Given the description of an element on the screen output the (x, y) to click on. 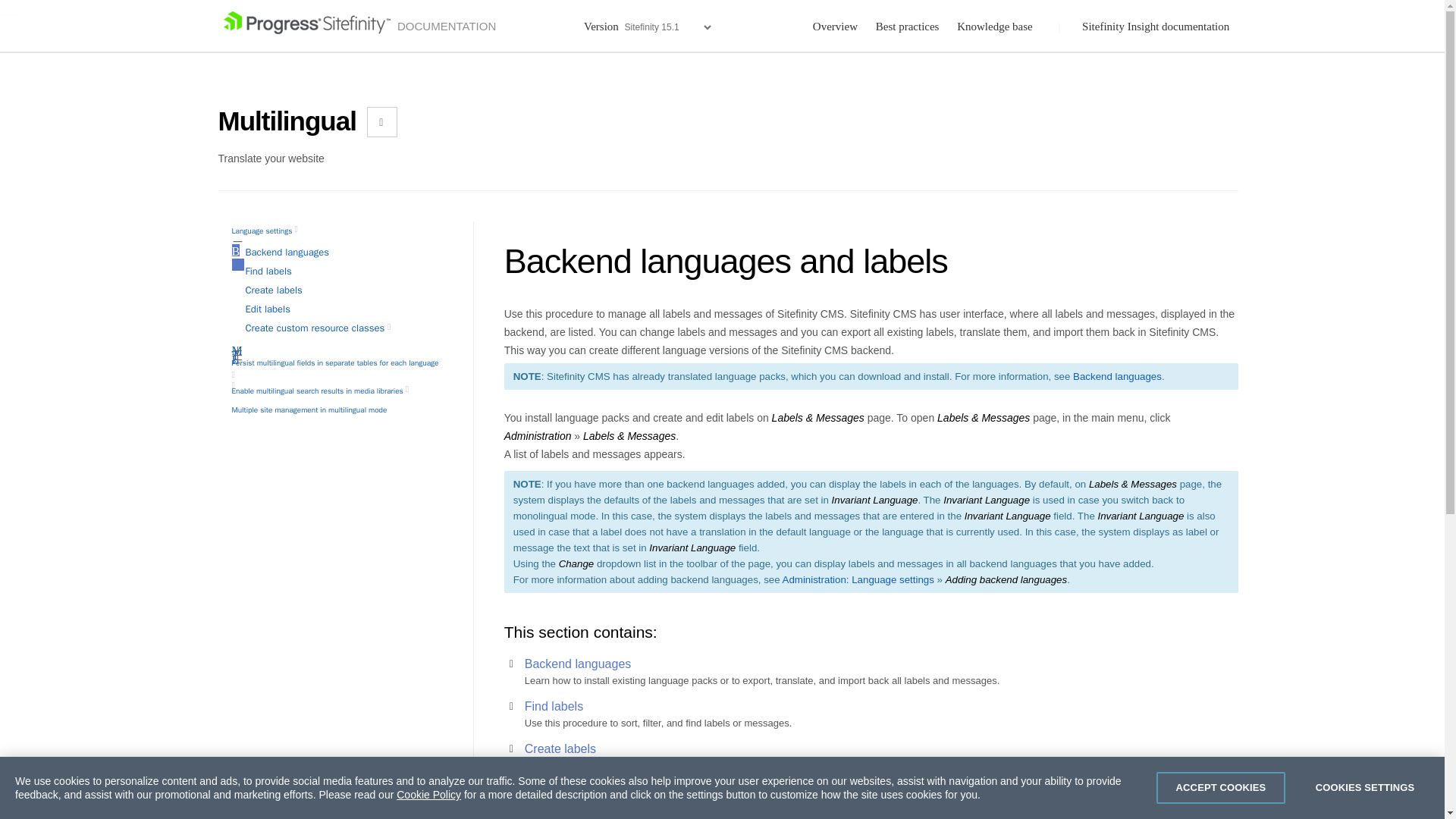
DOCUMENTATION (360, 26)
For developers (392, 326)
Overview (834, 26)
Knowledge base (996, 26)
Find labels (269, 270)
Administration (411, 388)
Multiple site management in multilingual mode (309, 409)
Backend languages (288, 251)
Create custom resource classes For developers (322, 327)
Sitefinity Insight documentation (1157, 26)
Language settings Administration (268, 230)
Create labels (274, 289)
For developers (237, 384)
